Given the description of an element on the screen output the (x, y) to click on. 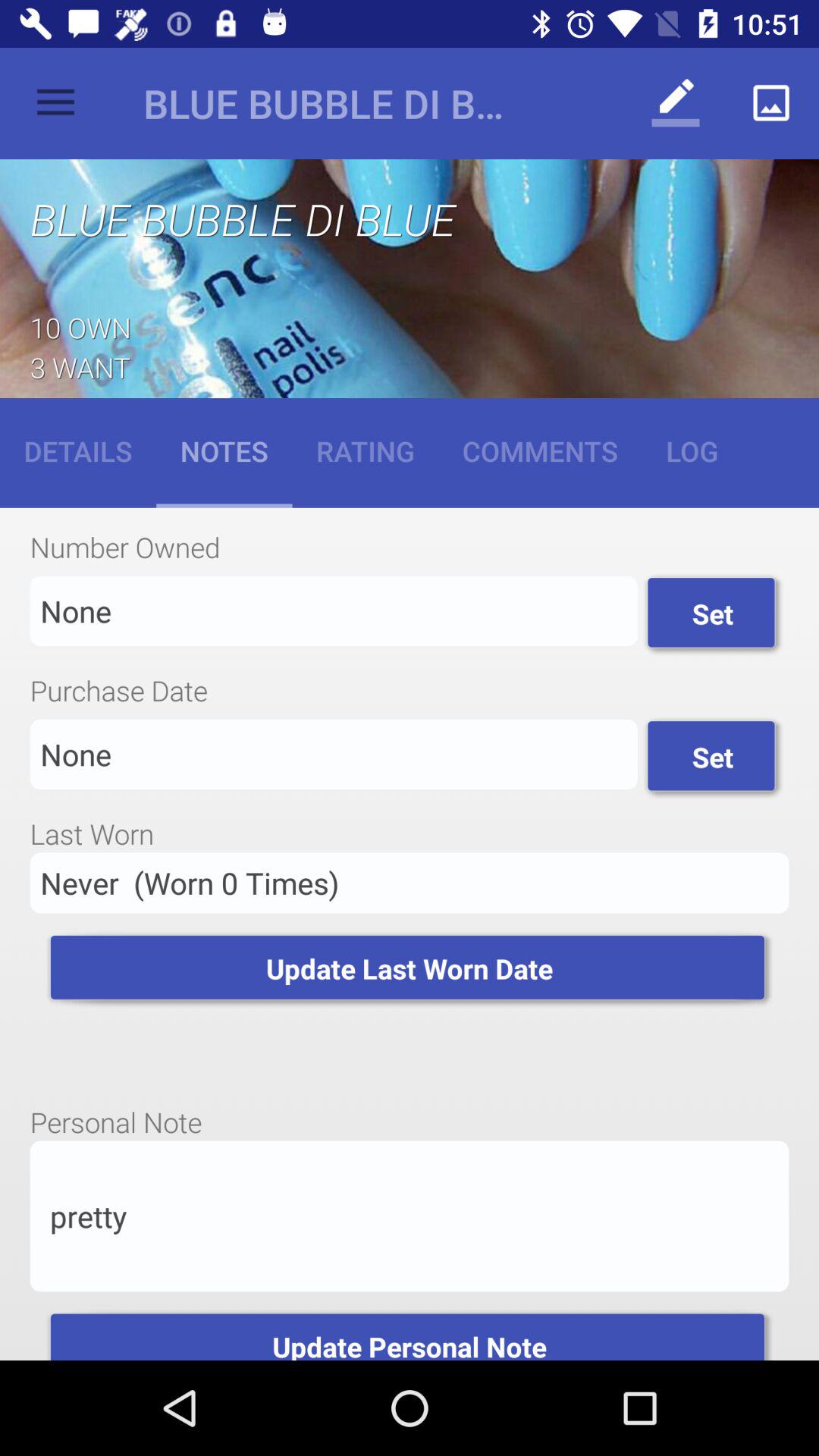
tap the item above the number owned item (540, 450)
